Given the description of an element on the screen output the (x, y) to click on. 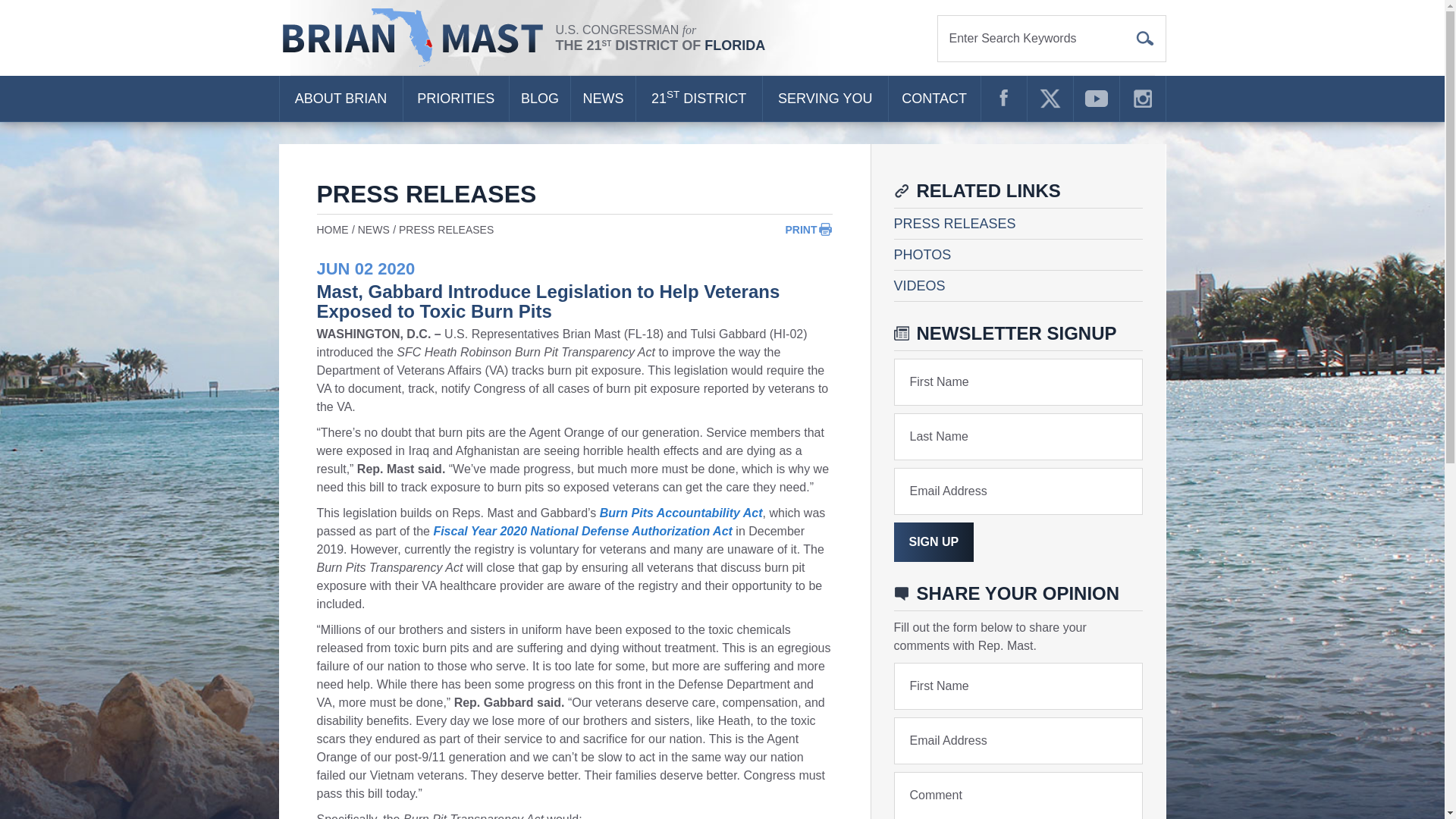
CONTACT (933, 98)
NEWS (602, 98)
Congressman Brian Mast (417, 38)
21ST DISTRICT (698, 98)
SERVING YOU (825, 98)
Go (1144, 38)
BLOG (539, 98)
PRIORITIES (455, 98)
ABOUT BRIAN (340, 98)
